Given the description of an element on the screen output the (x, y) to click on. 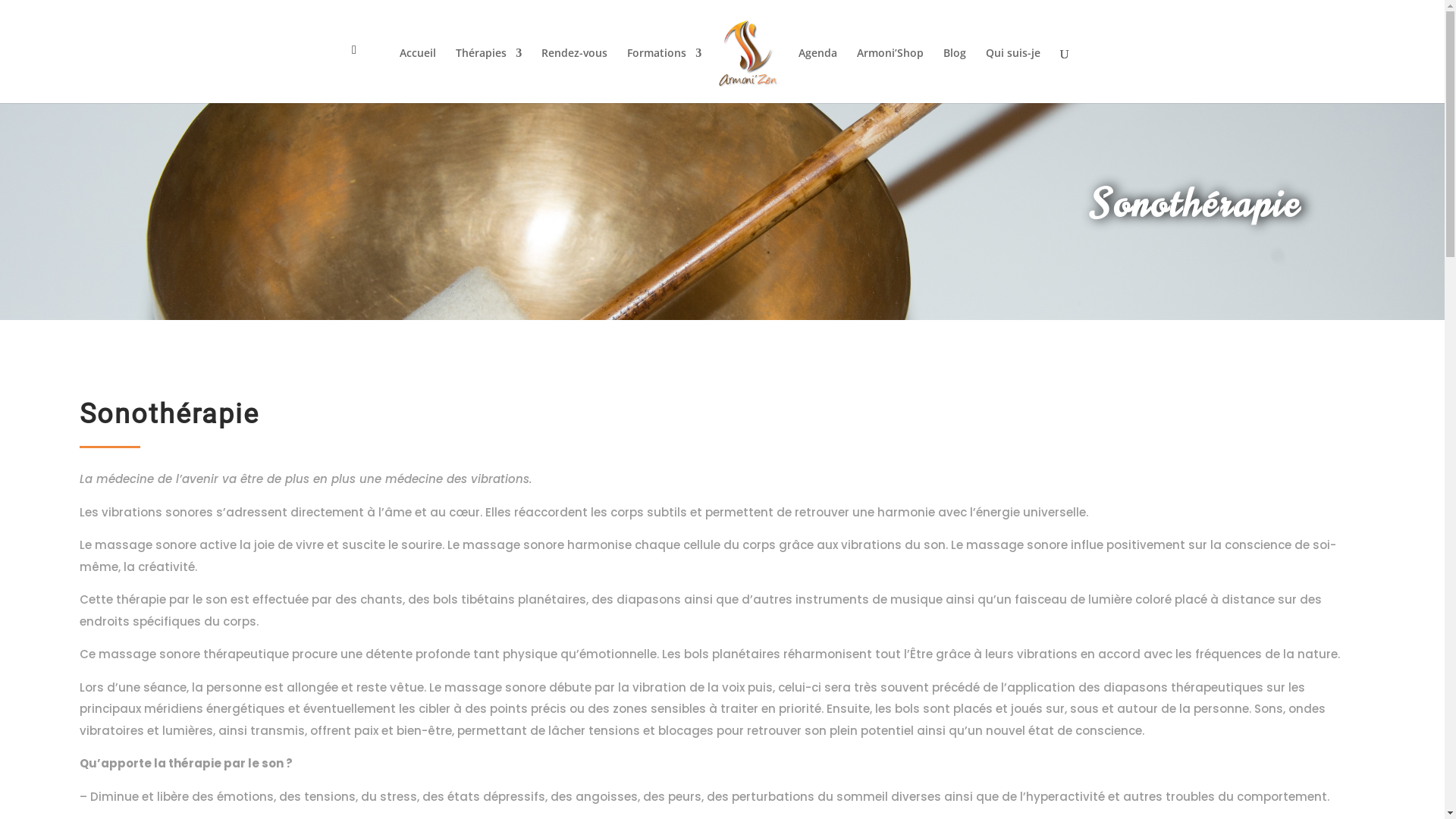
Formations Element type: text (664, 75)
Rendez-vous Element type: text (574, 75)
Qui suis-je Element type: text (1012, 75)
Agenda Element type: text (817, 75)
Accueil Element type: text (417, 75)
Blog Element type: text (954, 75)
